Given the description of an element on the screen output the (x, y) to click on. 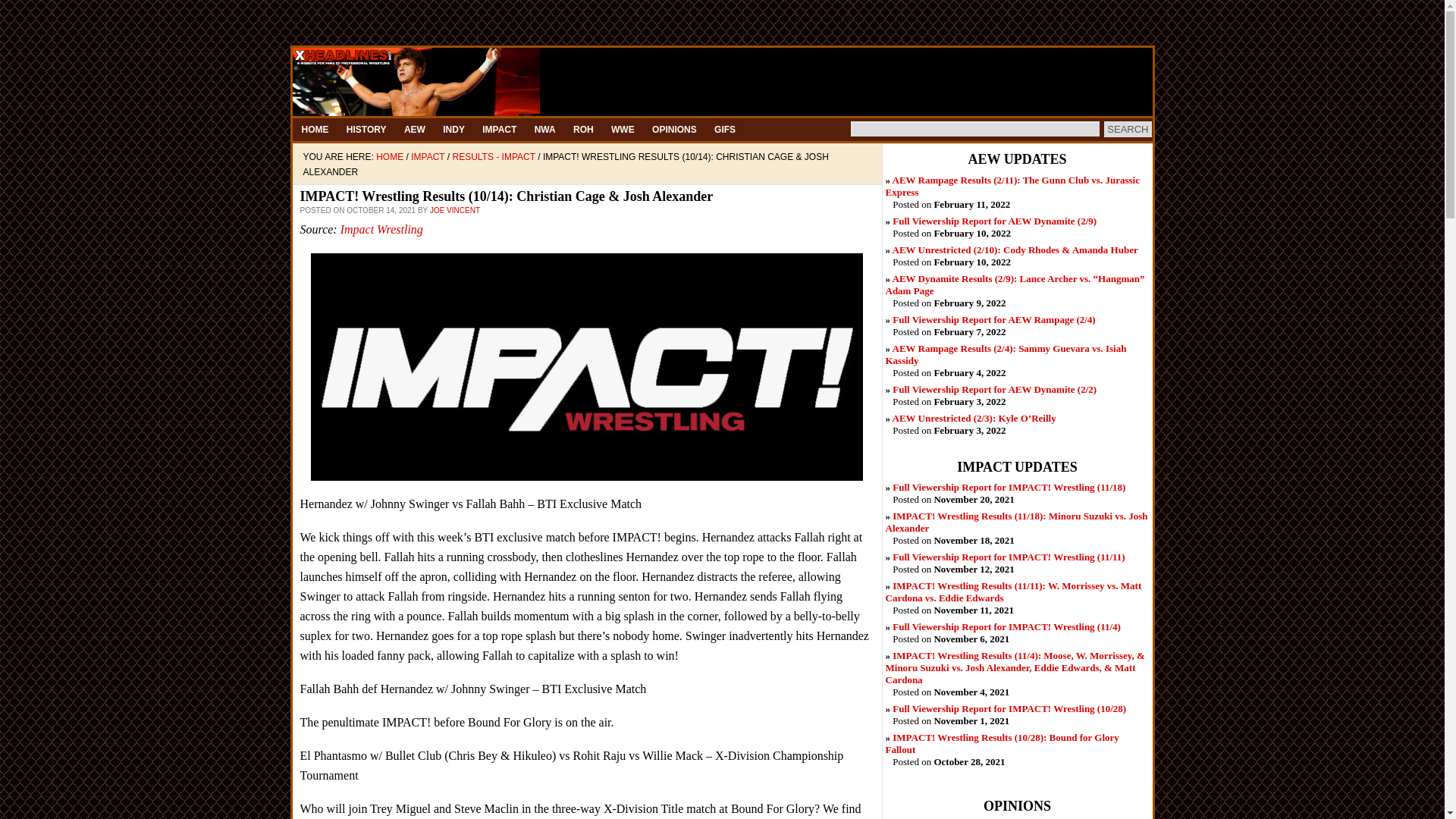
INDY (453, 128)
ROH (583, 128)
XHEADLINES.COM (722, 81)
February 3, 2022 (994, 389)
HISTORY (366, 128)
Search (1127, 129)
February 3, 2022 (974, 418)
February 9, 2022 (1014, 284)
IMPACT (499, 128)
